Given the description of an element on the screen output the (x, y) to click on. 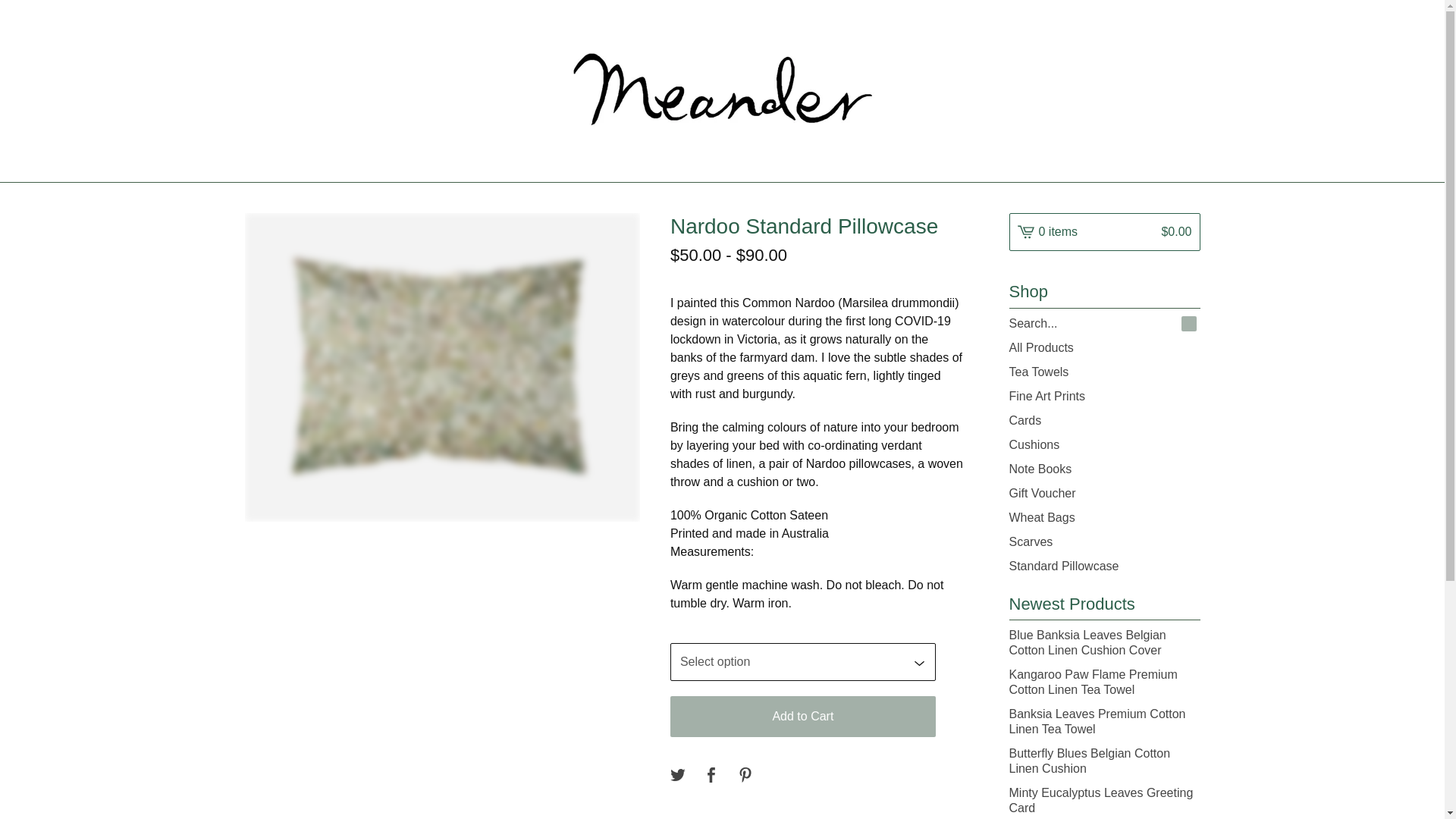
Note Books (1104, 469)
Gift Voucher (1104, 493)
Tweet (677, 775)
View Standard Pillowcase (1104, 566)
Butterfly Blues Belgian Cotton Linen Cushion (1104, 761)
Tea Towels (1104, 372)
Standard Pillowcase (1104, 566)
Minty Eucalyptus Leaves Greeting Card (1104, 800)
Meander Designs (721, 90)
View Cart (1104, 231)
Kangaroo Paw Flame Premium Cotton Linen Tea Towel (1104, 681)
Cushions (1104, 445)
Fine Art Prints (1104, 396)
View Note Books (1104, 469)
Blue Banksia Leaves Belgian Cotton Linen Cushion Cover (1104, 642)
